Given the description of an element on the screen output the (x, y) to click on. 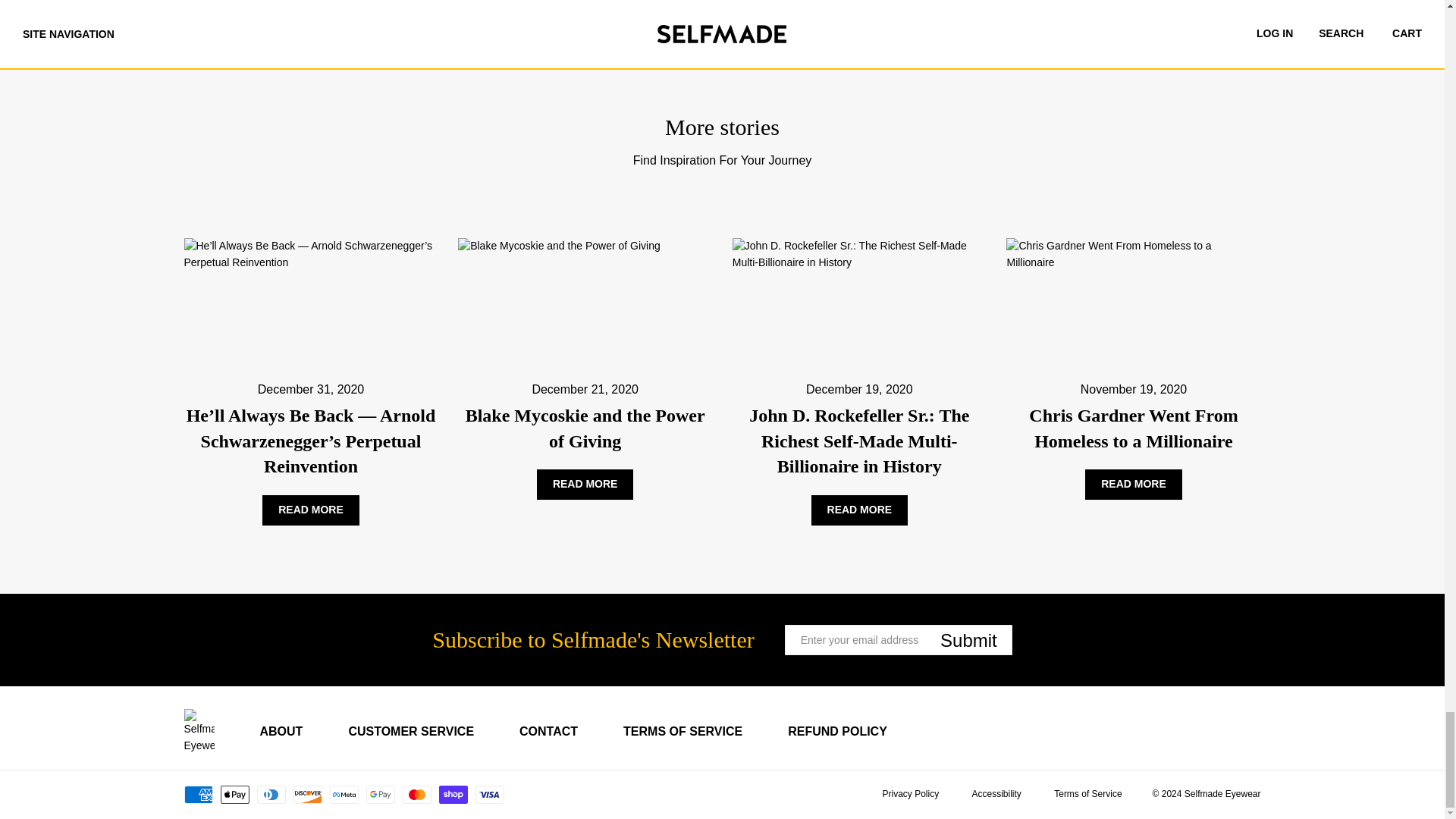
READ MORE (310, 510)
Diners Club (270, 794)
Blake Mycoskie and the Power of Giving (584, 428)
Mastercard (415, 794)
READ MORE (585, 484)
Visa (488, 794)
Discover (306, 794)
Apple Pay (233, 794)
American Express (197, 794)
